Given the description of an element on the screen output the (x, y) to click on. 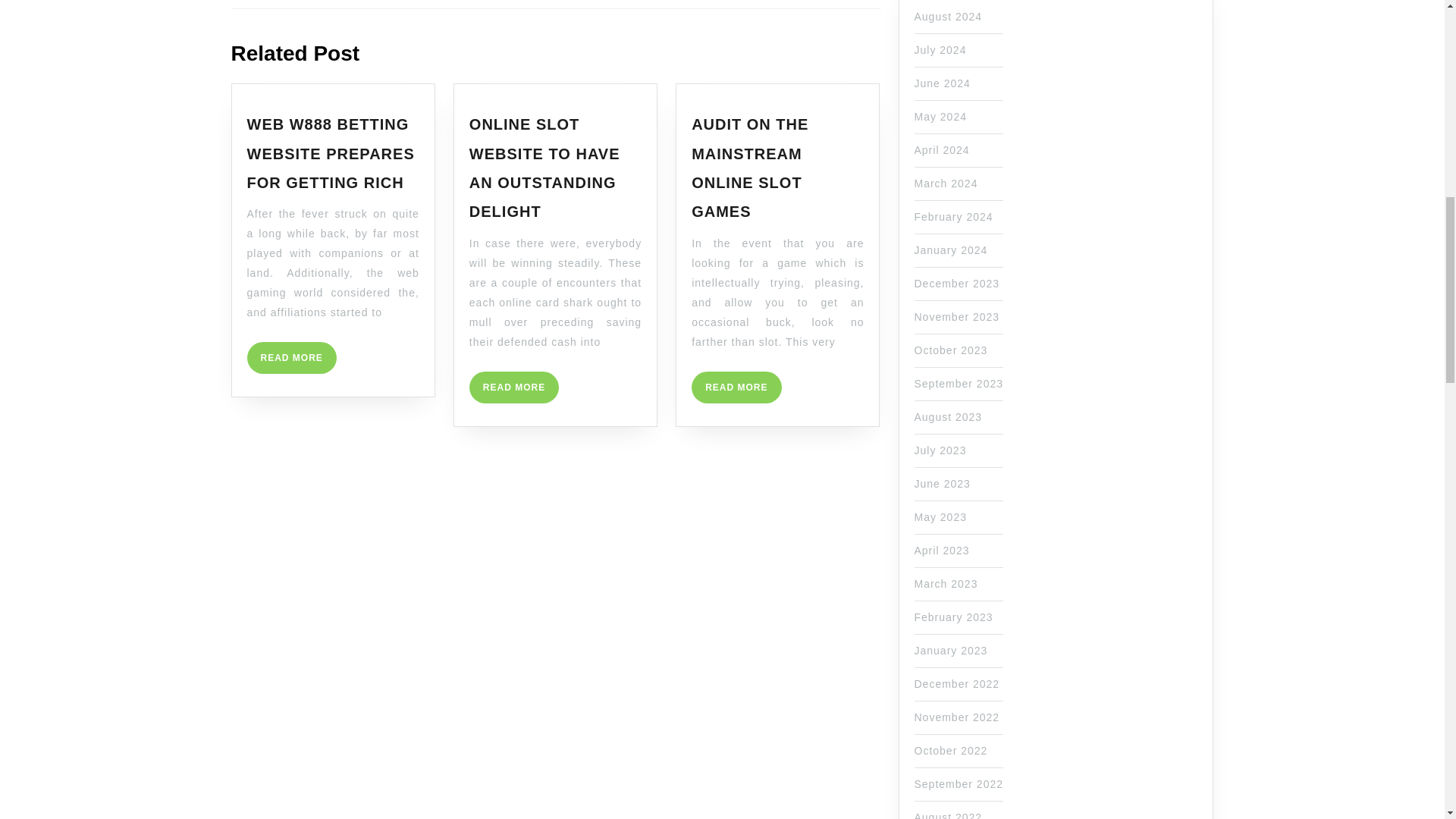
Audit on the mainstream online slot games (749, 168)
May 2024 (735, 387)
April 2024 (940, 116)
January 2024 (941, 150)
July 2024 (951, 250)
February 2024 (940, 50)
